Given the description of an element on the screen output the (x, y) to click on. 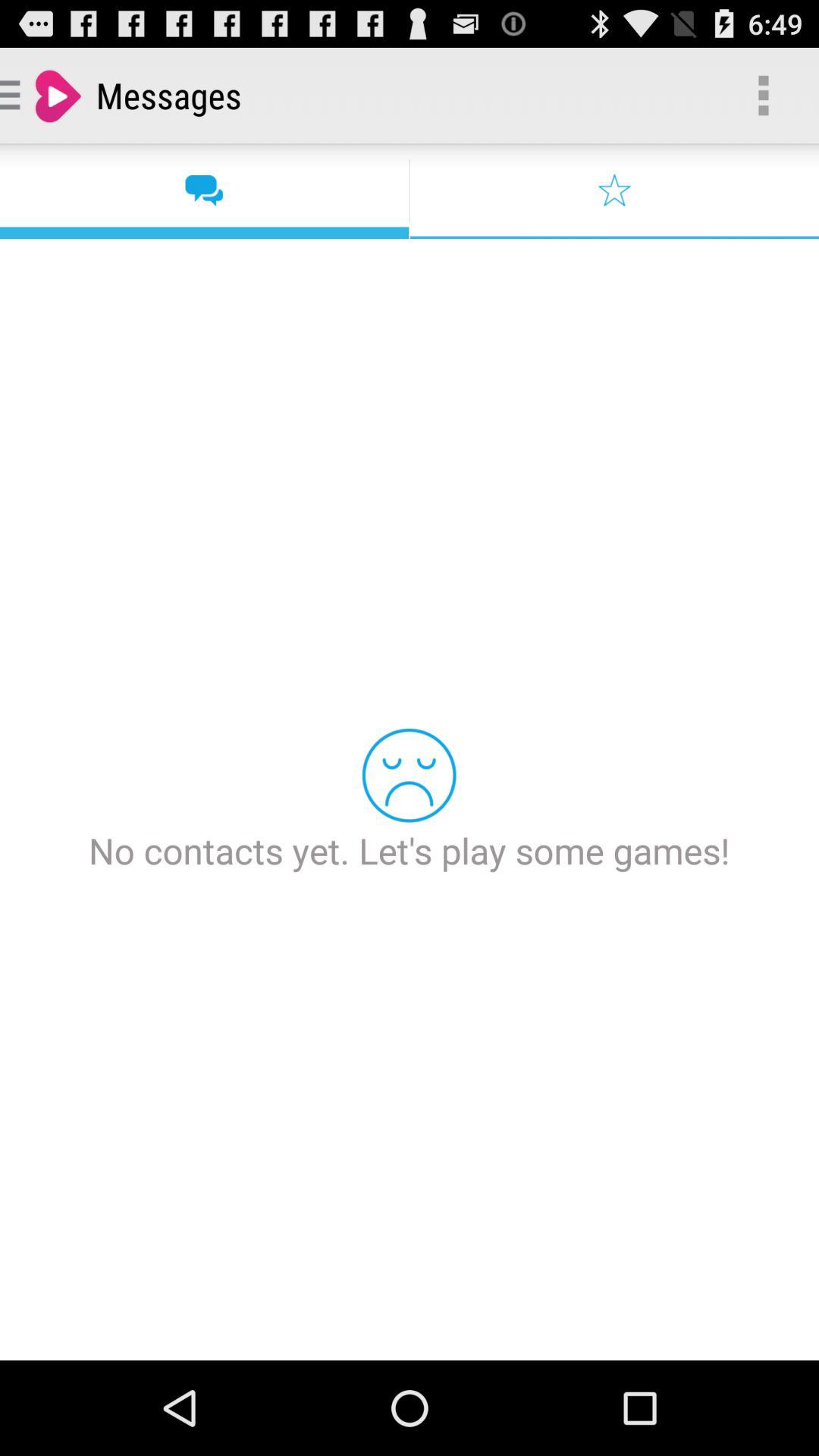
turn on app next to messages icon (763, 95)
